Given the description of an element on the screen output the (x, y) to click on. 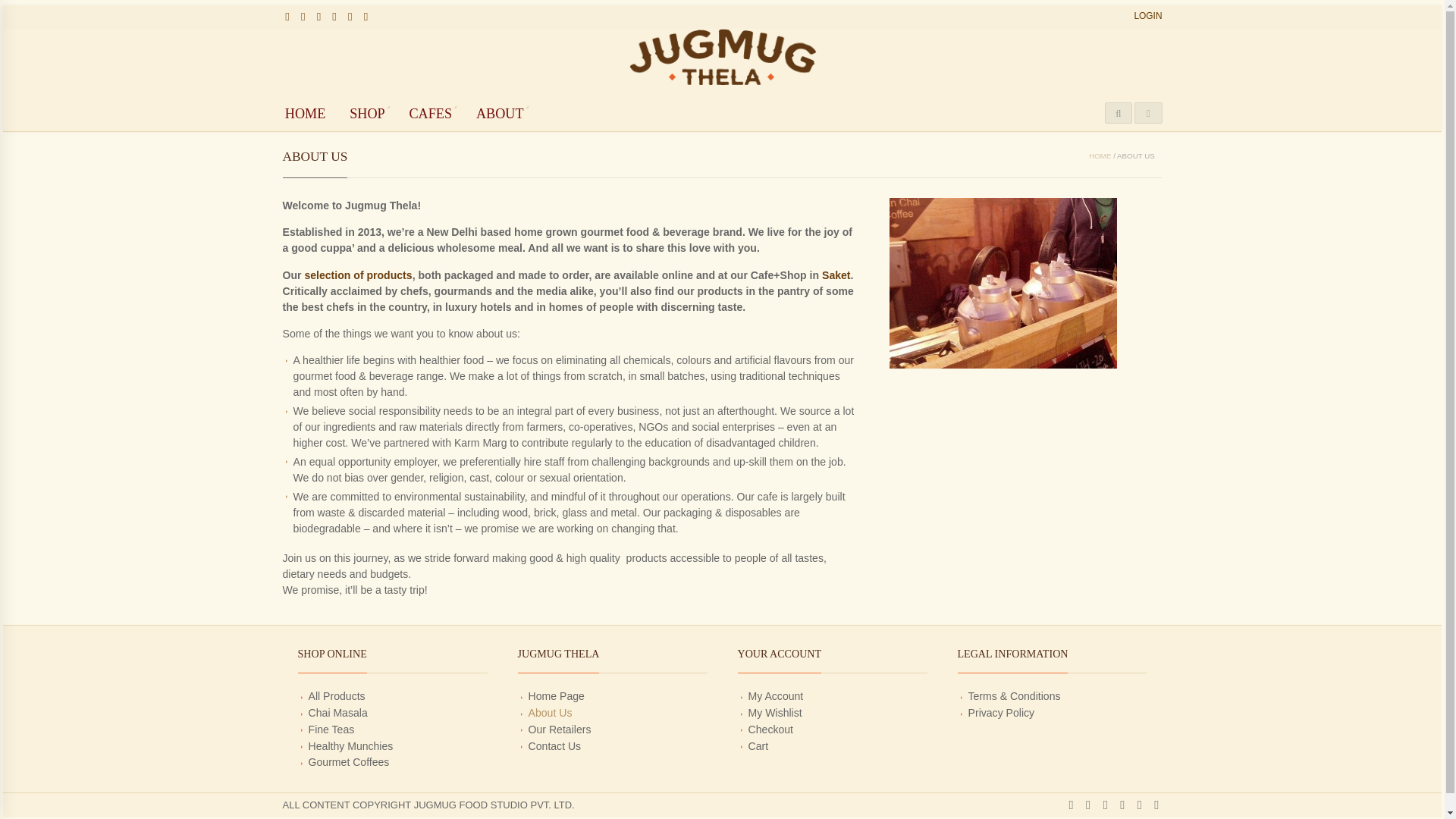
LOGIN (1147, 15)
ABOUT (499, 113)
CAFES (430, 113)
SHOP (367, 113)
HOME (1099, 155)
HOME (305, 113)
